Given the description of an element on the screen output the (x, y) to click on. 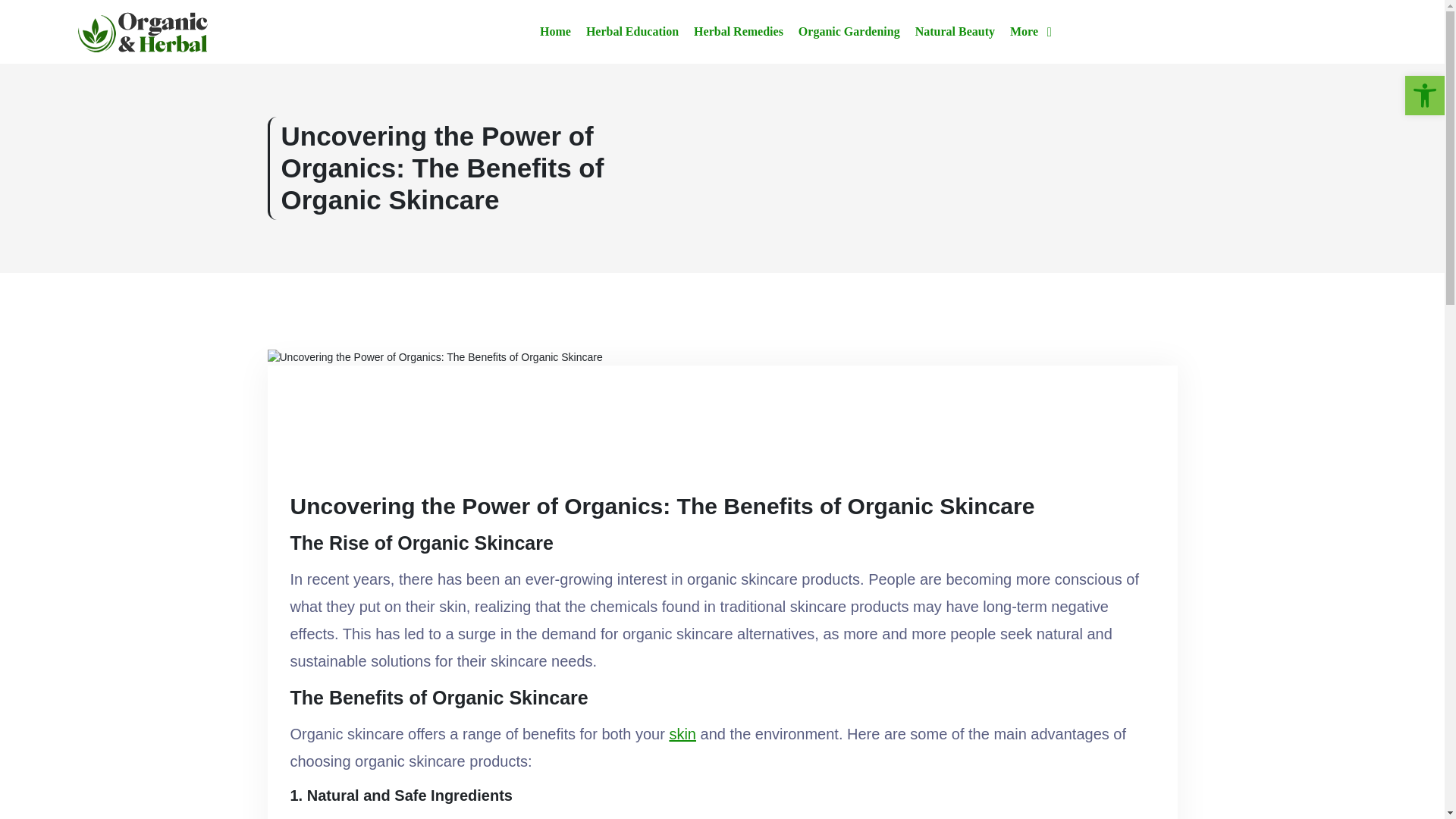
Natural Beauty (954, 31)
skin (681, 733)
natural (748, 817)
skin (681, 733)
natural (748, 817)
Organic Gardening (848, 31)
Natural Beauty (954, 31)
Herbal Remedies (738, 31)
Herbal Education (632, 31)
Herbal Remedies (738, 31)
